Given the description of an element on the screen output the (x, y) to click on. 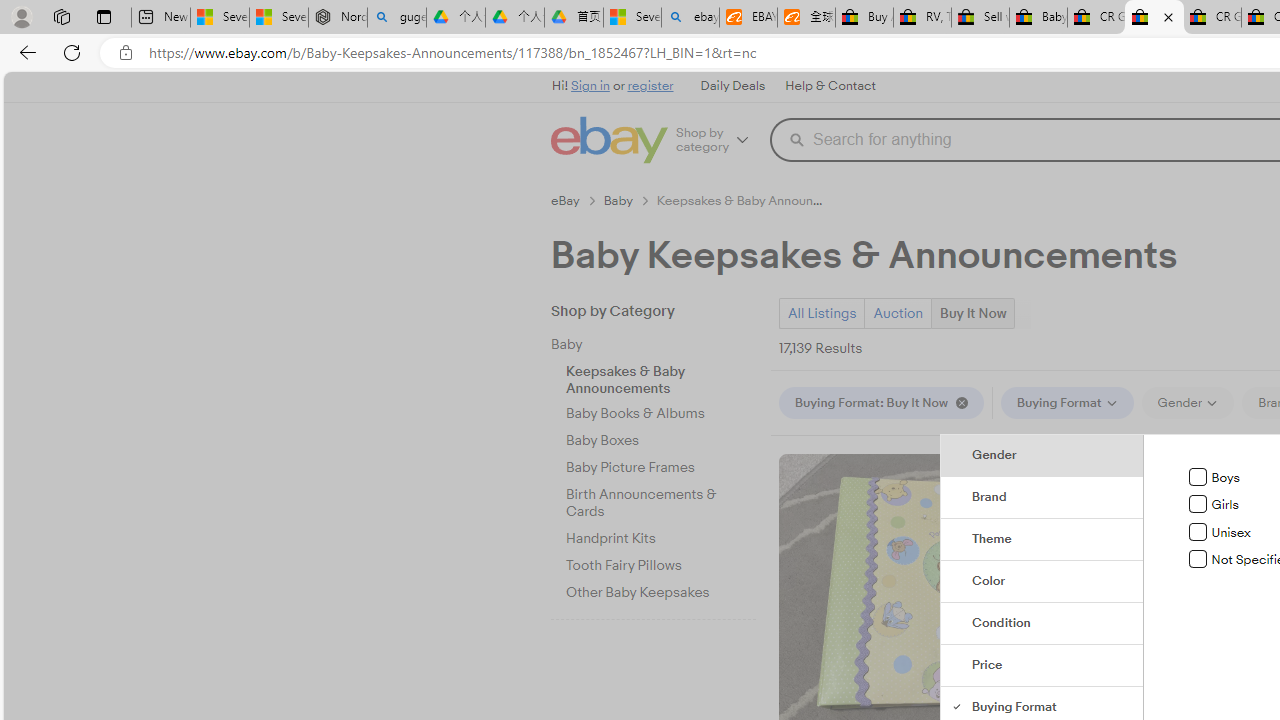
Boys (1198, 477)
Brand (1042, 497)
Girls (1198, 504)
Unisex (1198, 531)
Not Specified (1198, 559)
Theme (1042, 539)
